Given the description of an element on the screen output the (x, y) to click on. 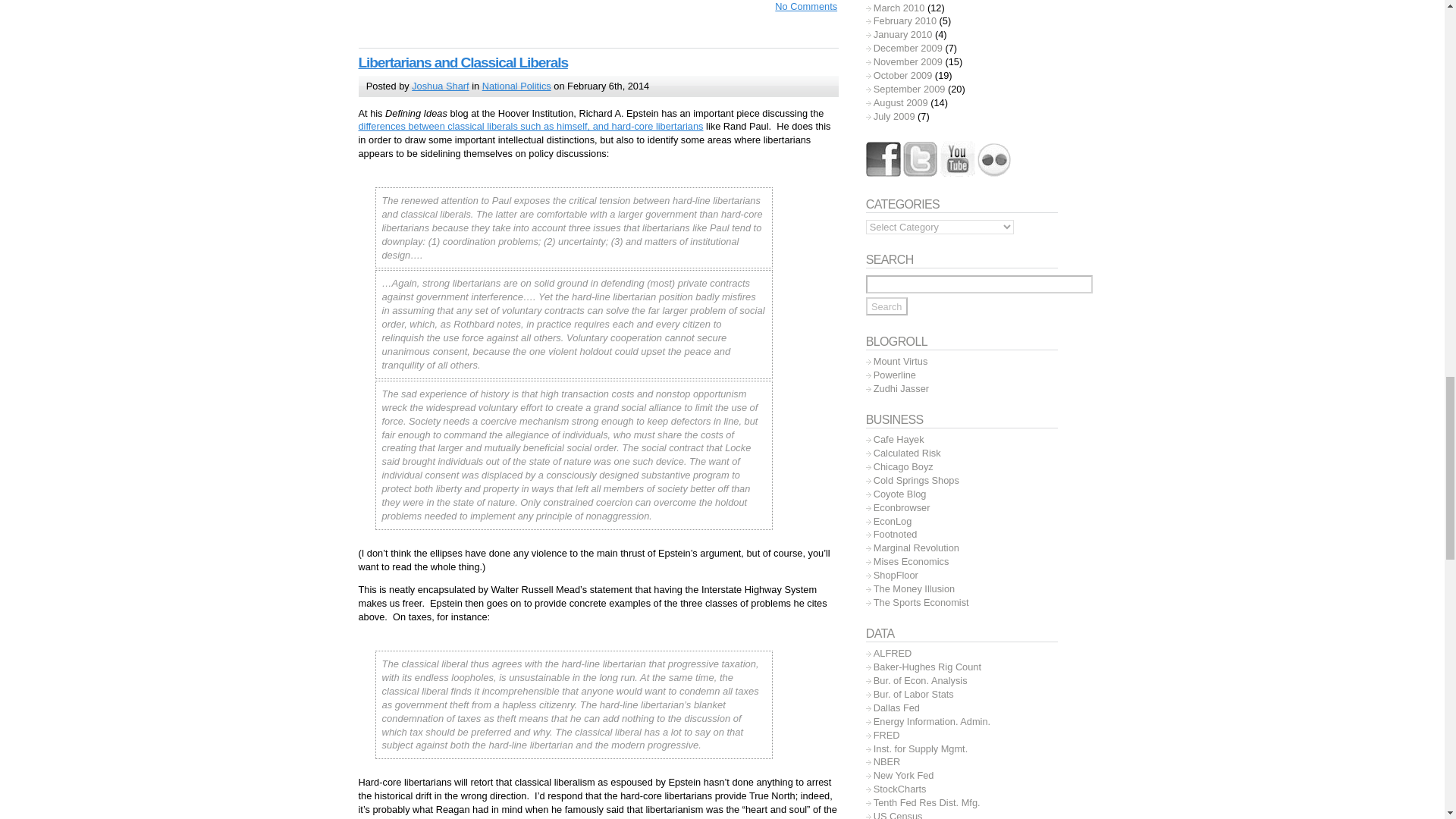
Posts by Joshua Sharf  (440, 85)
National Politics (516, 85)
Search (886, 306)
Permanent Link: Libertarians and Classical Liberals (462, 62)
Joshua Sharf (440, 85)
No Comments (799, 6)
Libertarians and Classical Liberals (462, 62)
Search (886, 306)
